Given the description of an element on the screen output the (x, y) to click on. 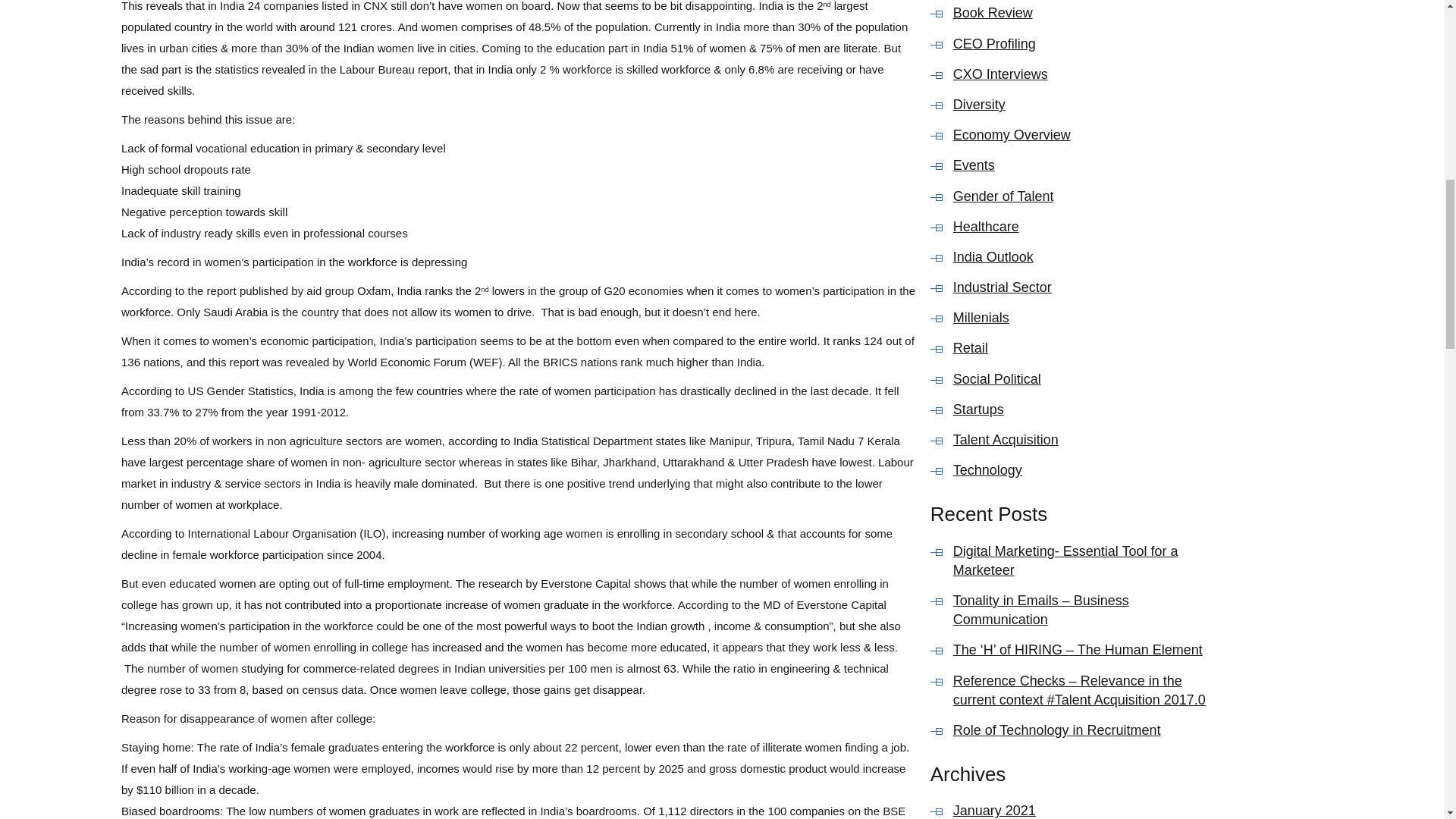
Startups (1088, 409)
Digital Marketing- Essential Tool for a Marketeer (1088, 560)
Social Political (1088, 379)
Talent Acquisition (1088, 439)
Economy Overview (1088, 135)
Industrial Sector (1088, 287)
Healthcare (1088, 226)
Book Review (1088, 13)
Retail (1088, 348)
Gender of Talent (1088, 195)
Millenials (1088, 317)
Role of Technology in Recruitment (1088, 730)
Technology (1088, 470)
Diversity (1088, 104)
CEO Profiling (1088, 44)
